Given the description of an element on the screen output the (x, y) to click on. 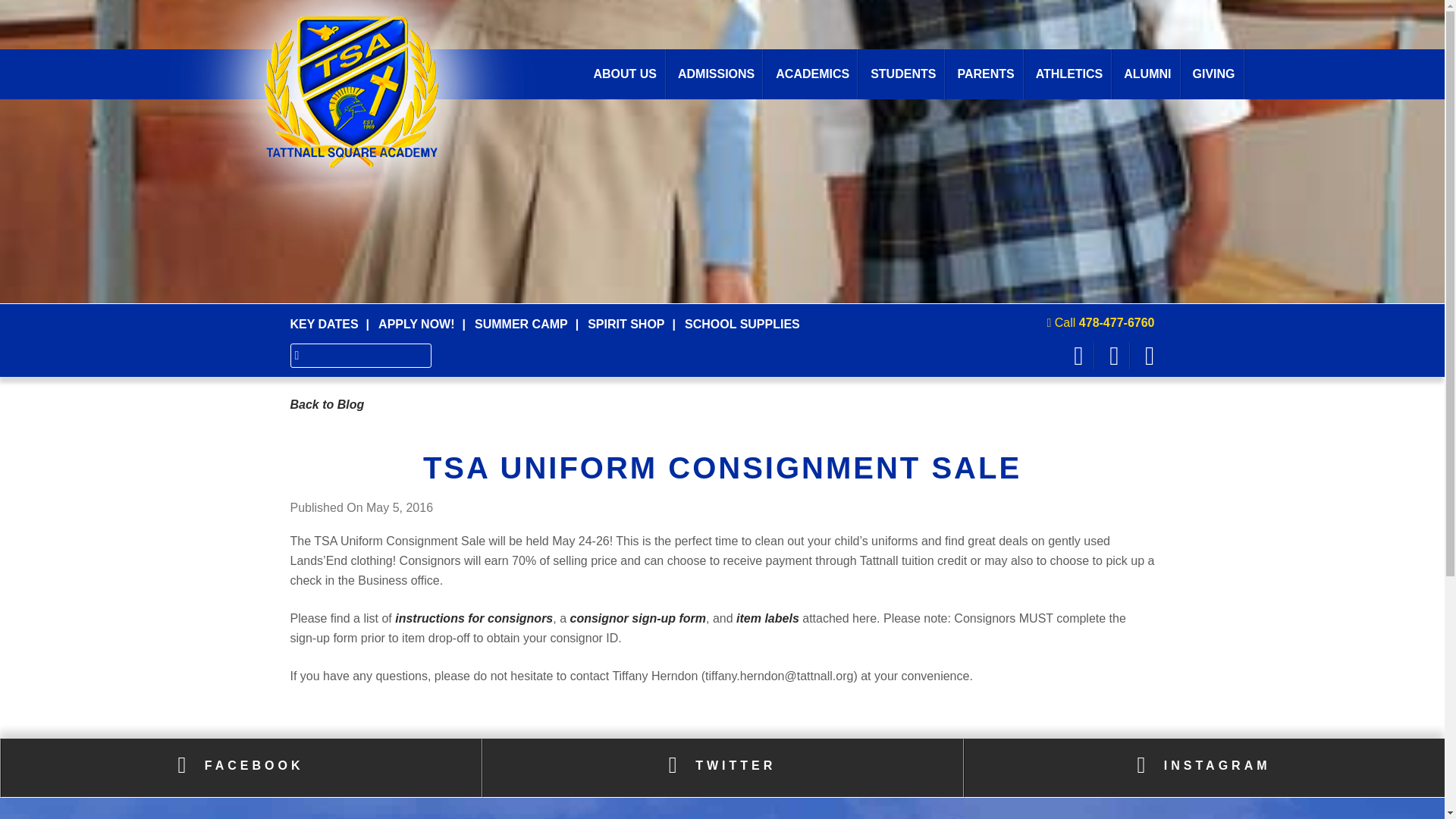
ATHLETICS (1069, 74)
ALUMNI (1146, 74)
ACADEMICS (812, 74)
PARENTS (985, 74)
ADMISSIONS (715, 74)
STUDENTS (903, 74)
ABOUT US (624, 74)
